Given the description of an element on the screen output the (x, y) to click on. 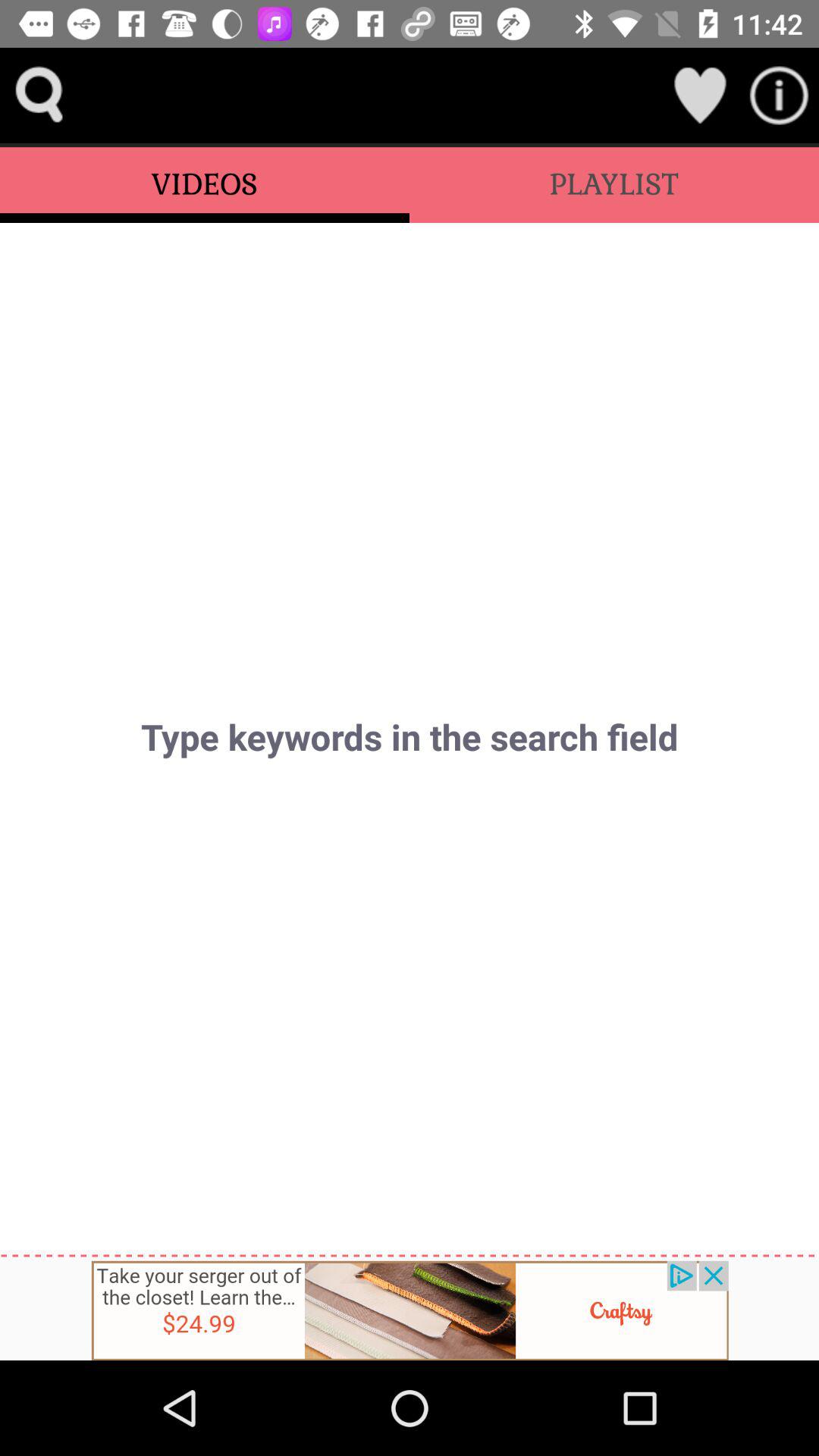
like it (699, 95)
